Given the description of an element on the screen output the (x, y) to click on. 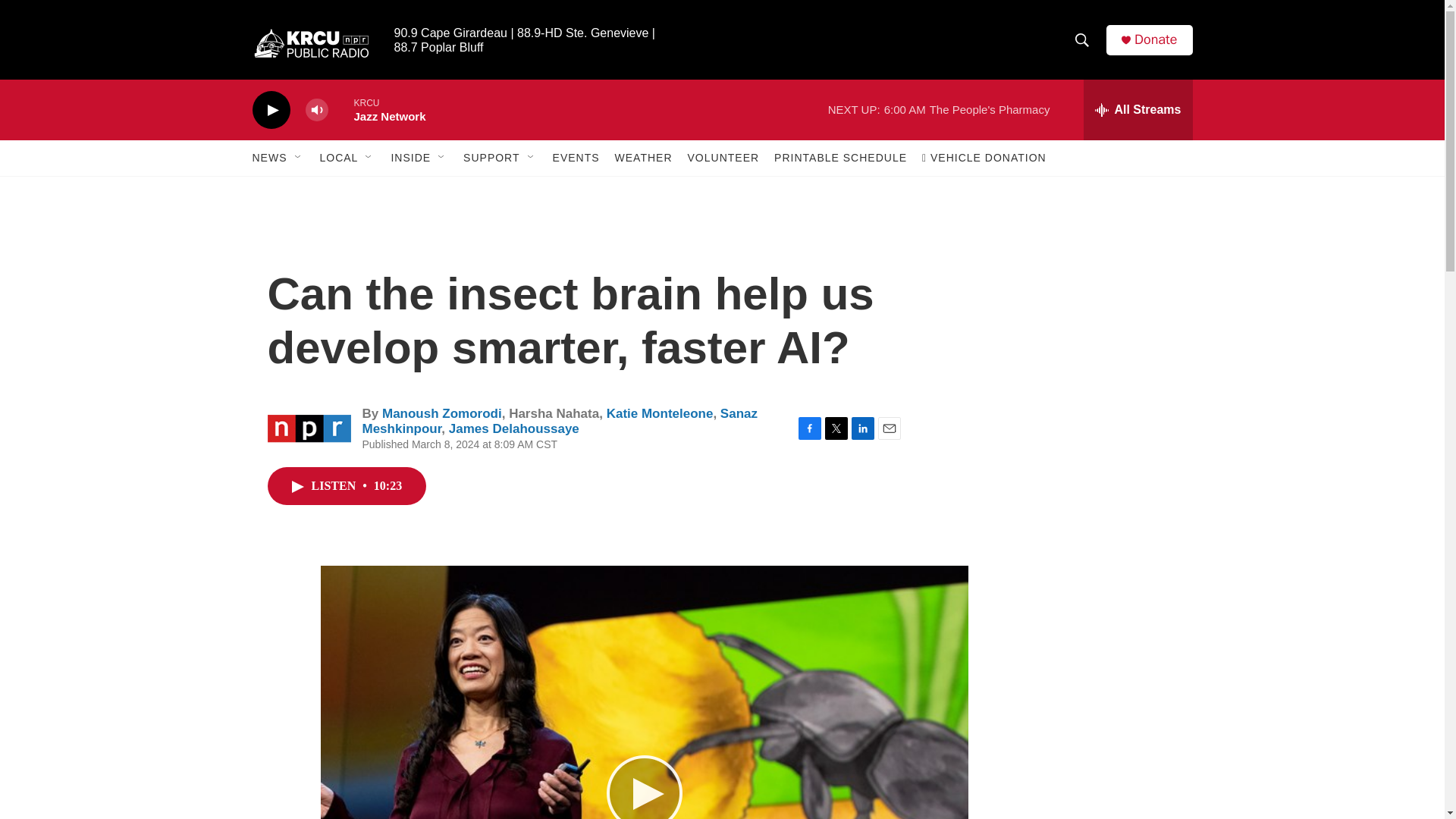
3rd party ad content (1062, 316)
3rd party ad content (1063, 536)
